Given the description of an element on the screen output the (x, y) to click on. 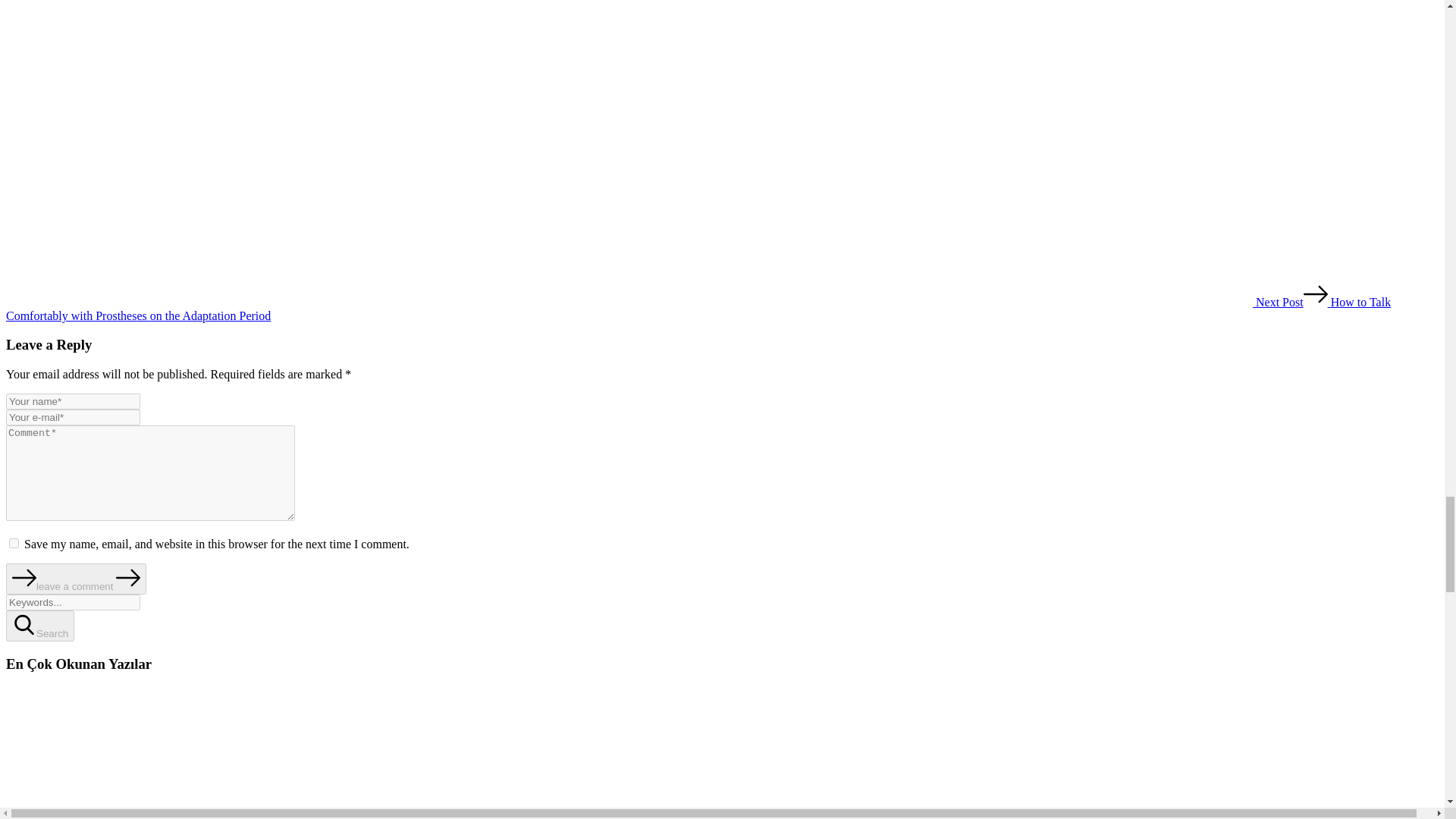
yes (13, 542)
